Given the description of an element on the screen output the (x, y) to click on. 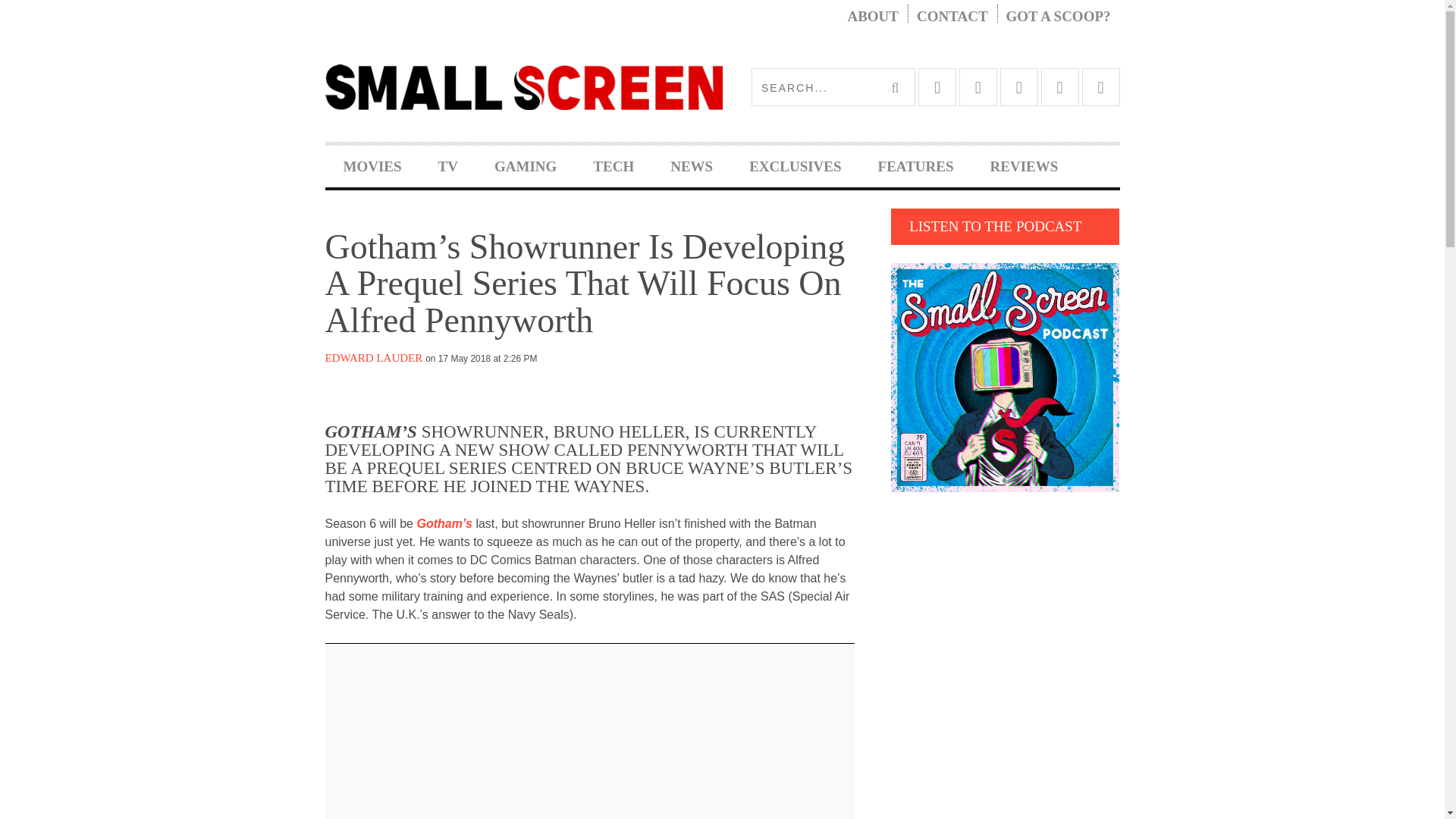
Posts by Edward Lauder (373, 357)
GOT A SCOOP? (1058, 16)
CONTACT (952, 16)
Listen To The Podcast (1005, 376)
Small Screen (523, 86)
ABOUT (872, 16)
